Given the description of an element on the screen output the (x, y) to click on. 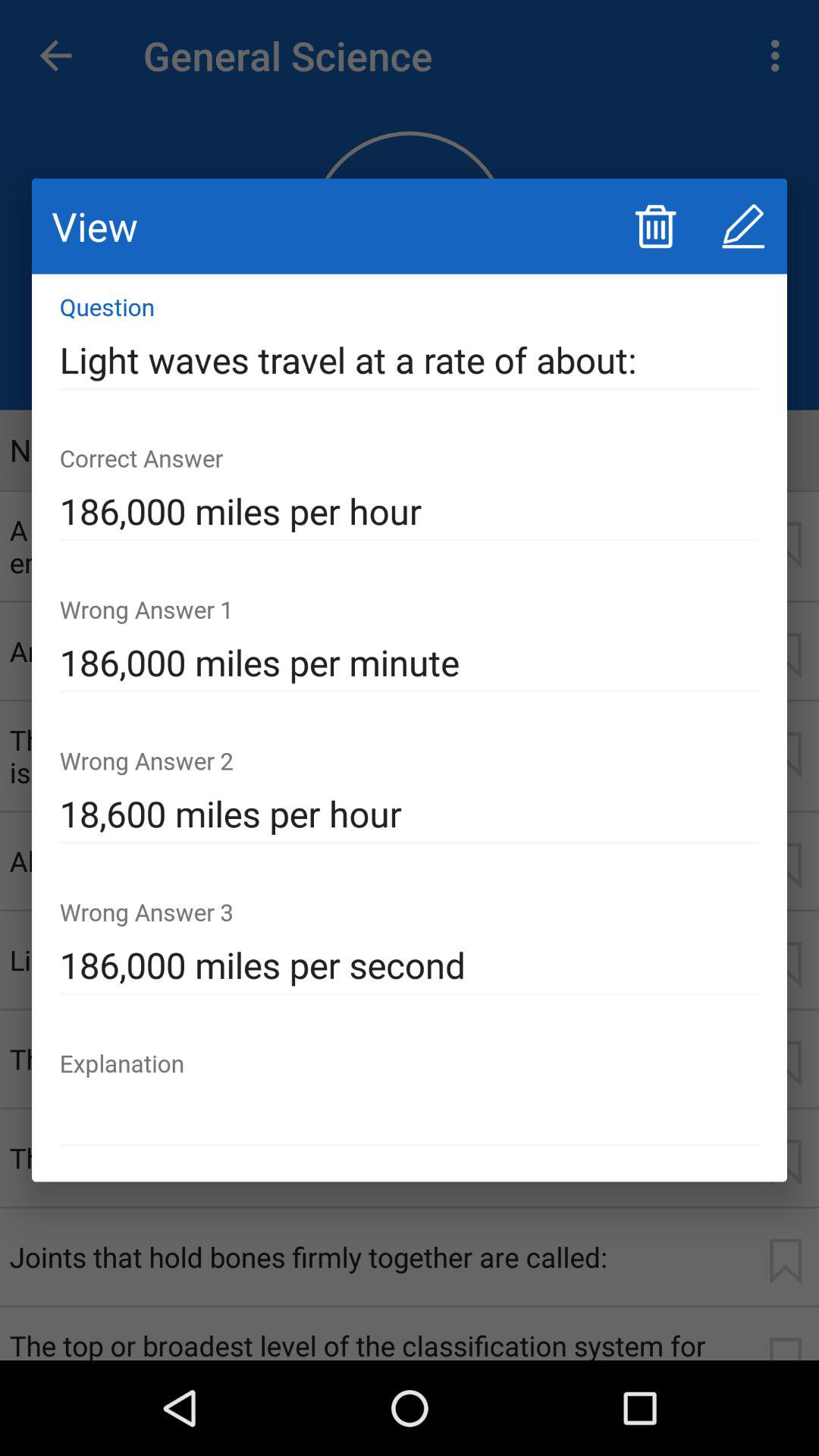
launch the icon to the right of view icon (655, 226)
